Given the description of an element on the screen output the (x, y) to click on. 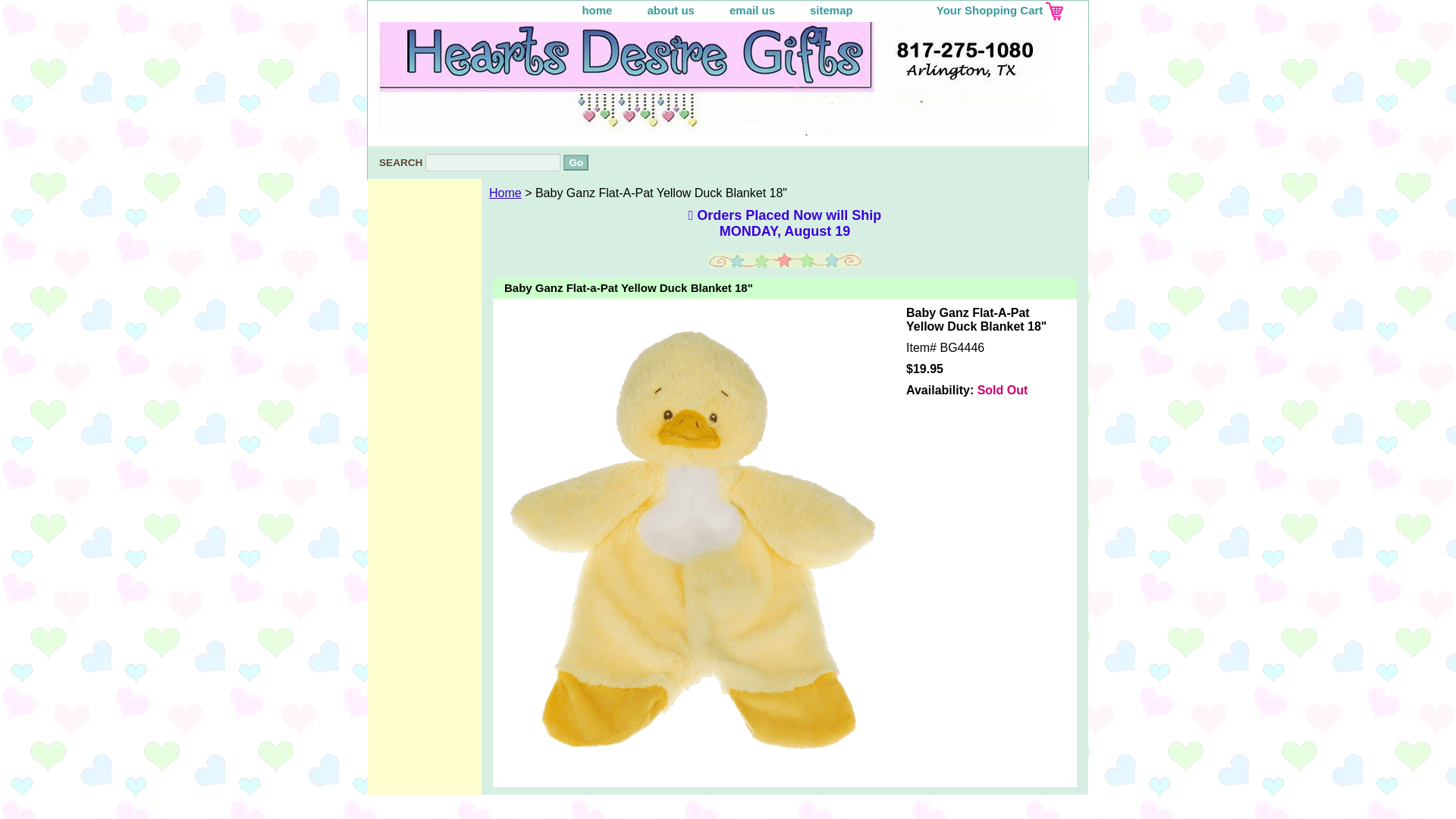
about us (670, 10)
email us (752, 10)
Home (505, 192)
Go (575, 162)
Go (575, 162)
sitemap (830, 10)
home (596, 10)
Hearts Desire Gifts (557, 84)
              Your Shopping Cart     (979, 10)
